Given the description of an element on the screen output the (x, y) to click on. 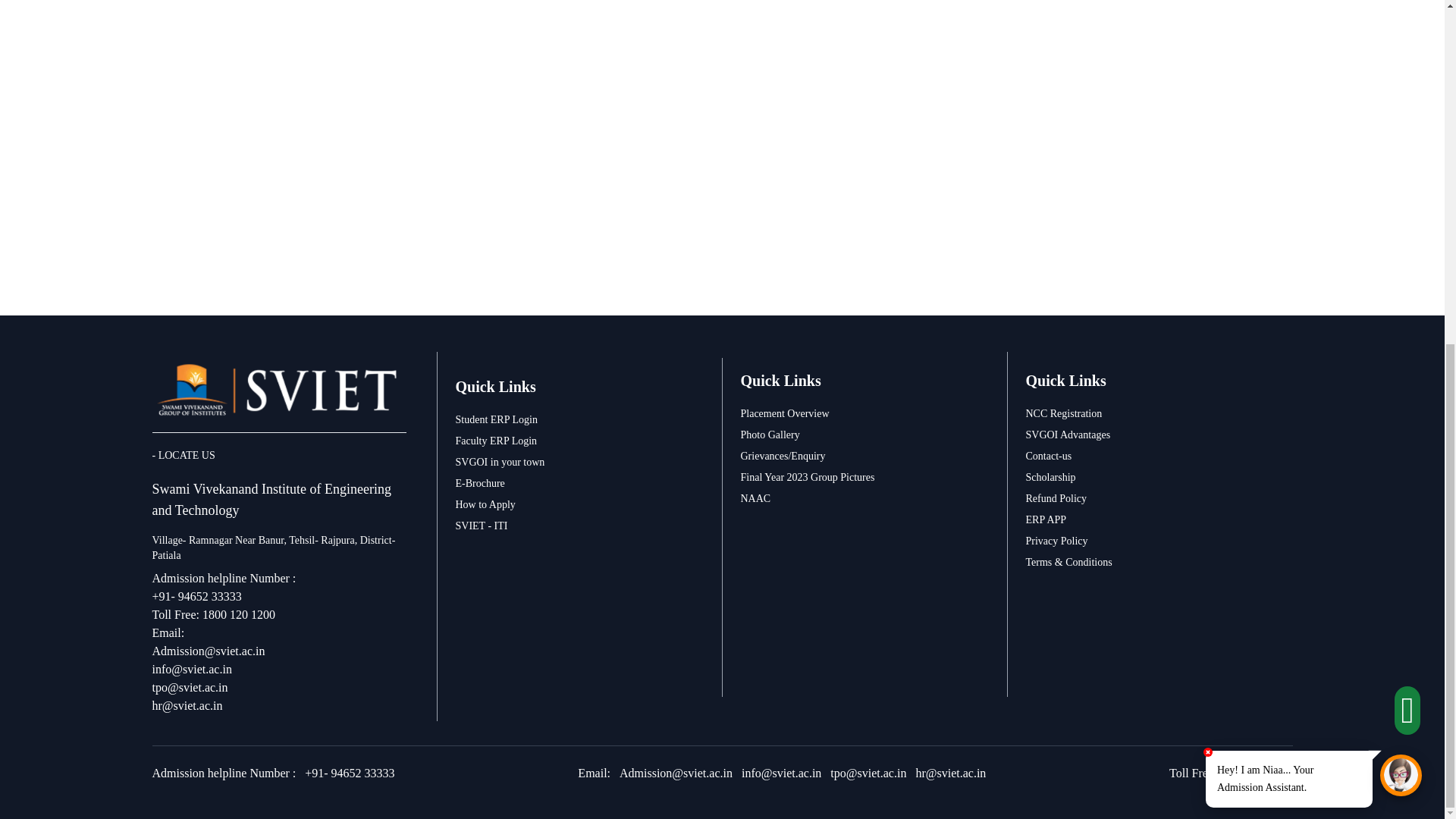
Niaa (1401, 187)
Restart (1393, 317)
